Given the description of an element on the screen output the (x, y) to click on. 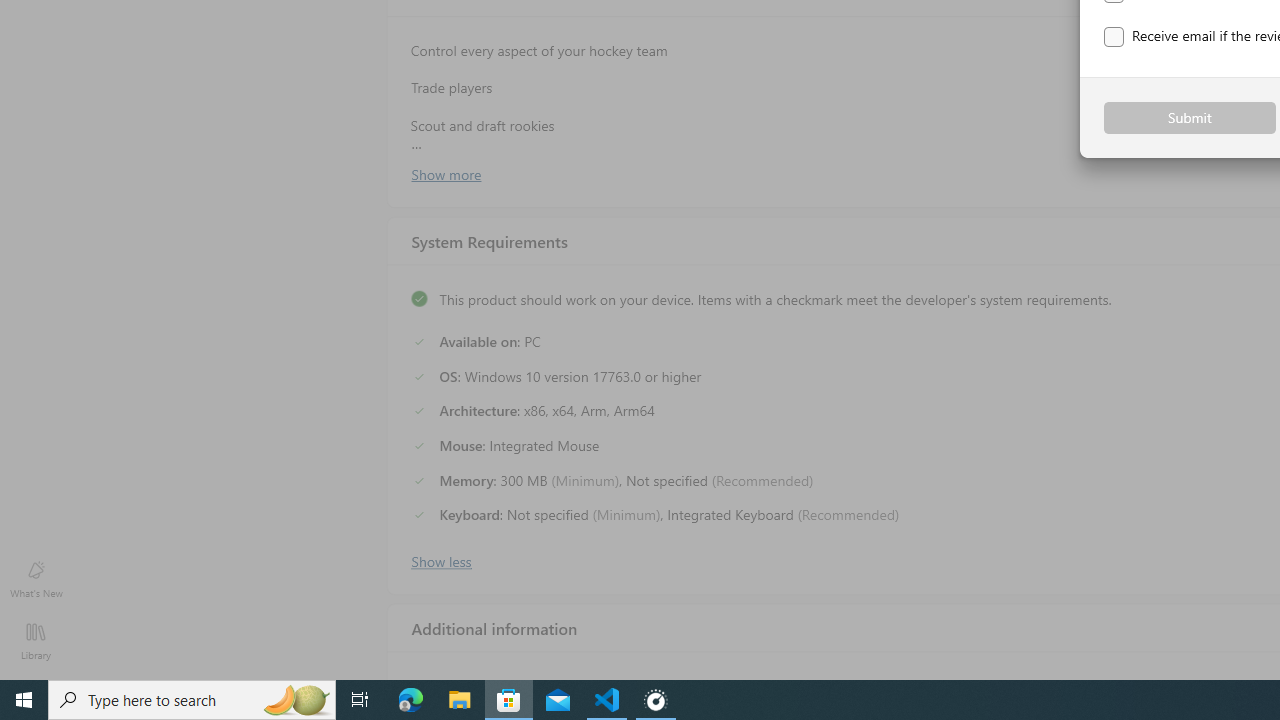
Show less (440, 559)
Submit (1189, 117)
Show more (445, 173)
